Given the description of an element on the screen output the (x, y) to click on. 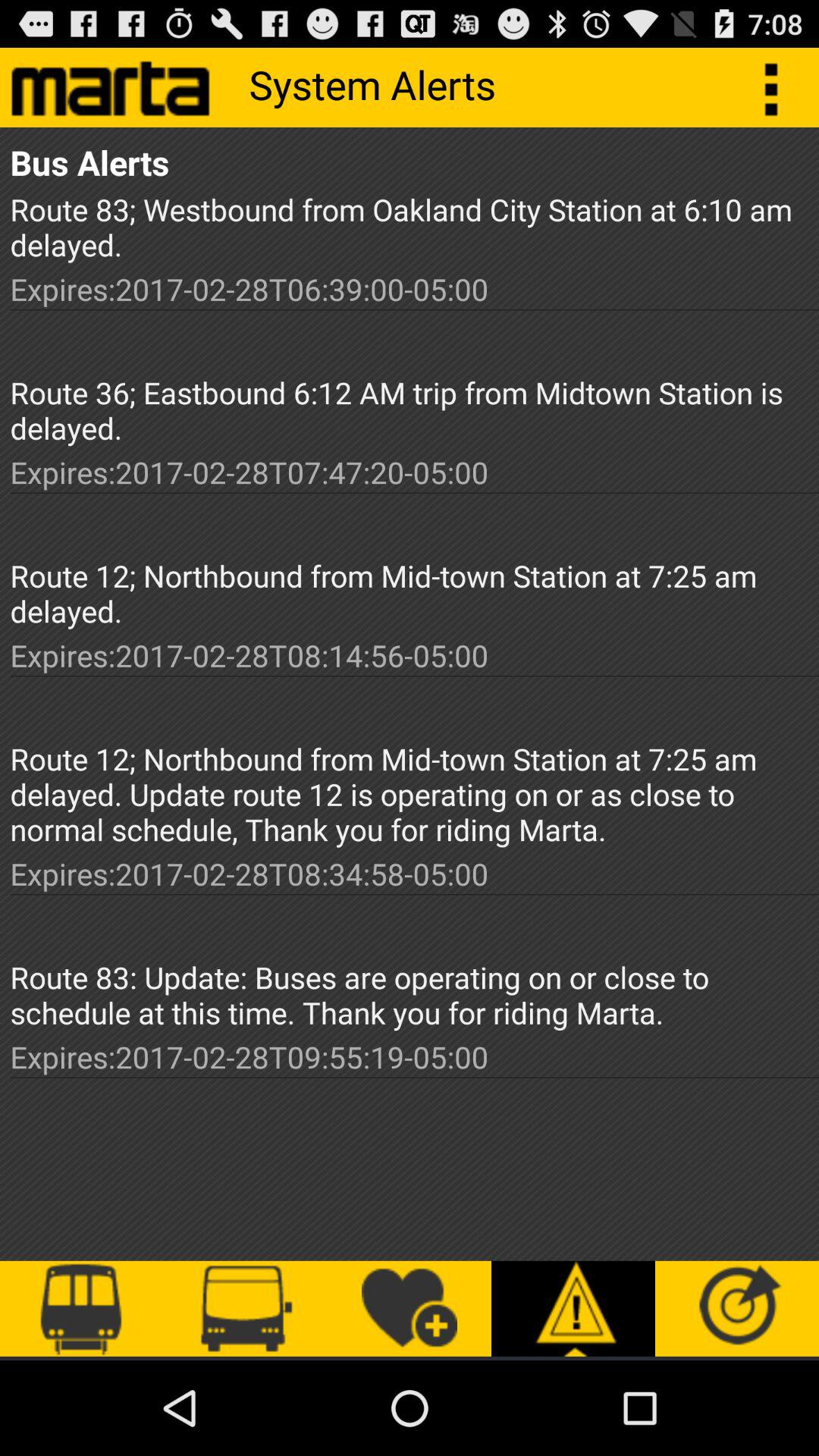
go to the first icon from bottom (81, 1308)
click on the icon bottom of right corner (737, 1308)
